Given the description of an element on the screen output the (x, y) to click on. 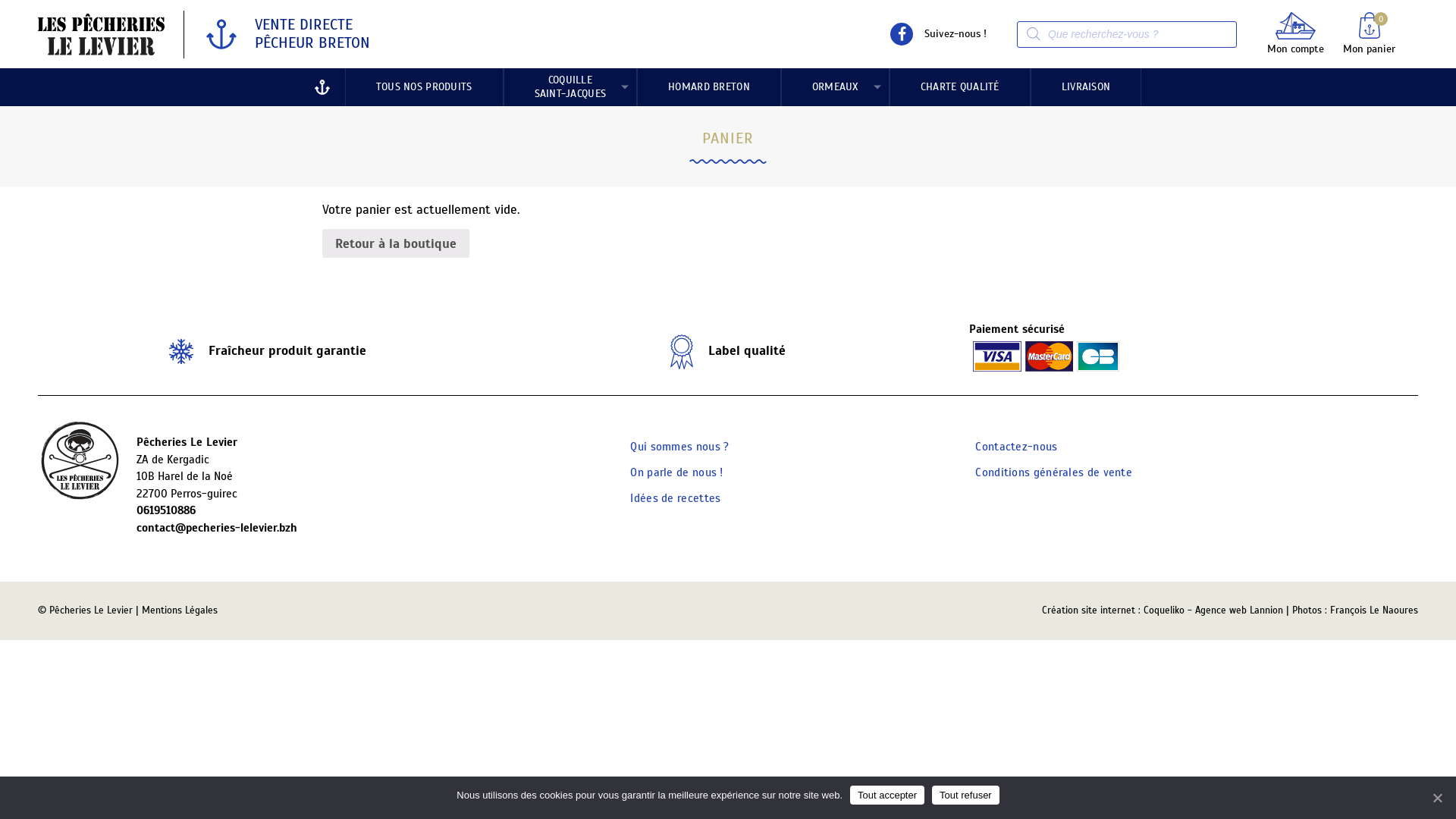
HOMARD BRETON Element type: text (708, 87)
ORMEAUX Element type: text (834, 87)
Contactez-nous Element type: text (1016, 446)
Mon panier
0 Element type: text (1369, 33)
LIVRAISON Element type: text (1086, 87)
COQUILLE
SAINT-JACQUES Element type: text (570, 86)
TOUS NOS PRODUITS Element type: text (423, 87)
Mon compte Element type: text (1295, 33)
Tout refuser Element type: text (965, 794)
Tout accepter Element type: text (887, 794)
contact@pecheries-lelevier.bzh Element type: text (368, 527)
On parle de nous ! Element type: text (676, 472)
Qui sommes nous ? Element type: text (679, 446)
0619510886 Element type: text (368, 510)
